Given the description of an element on the screen output the (x, y) to click on. 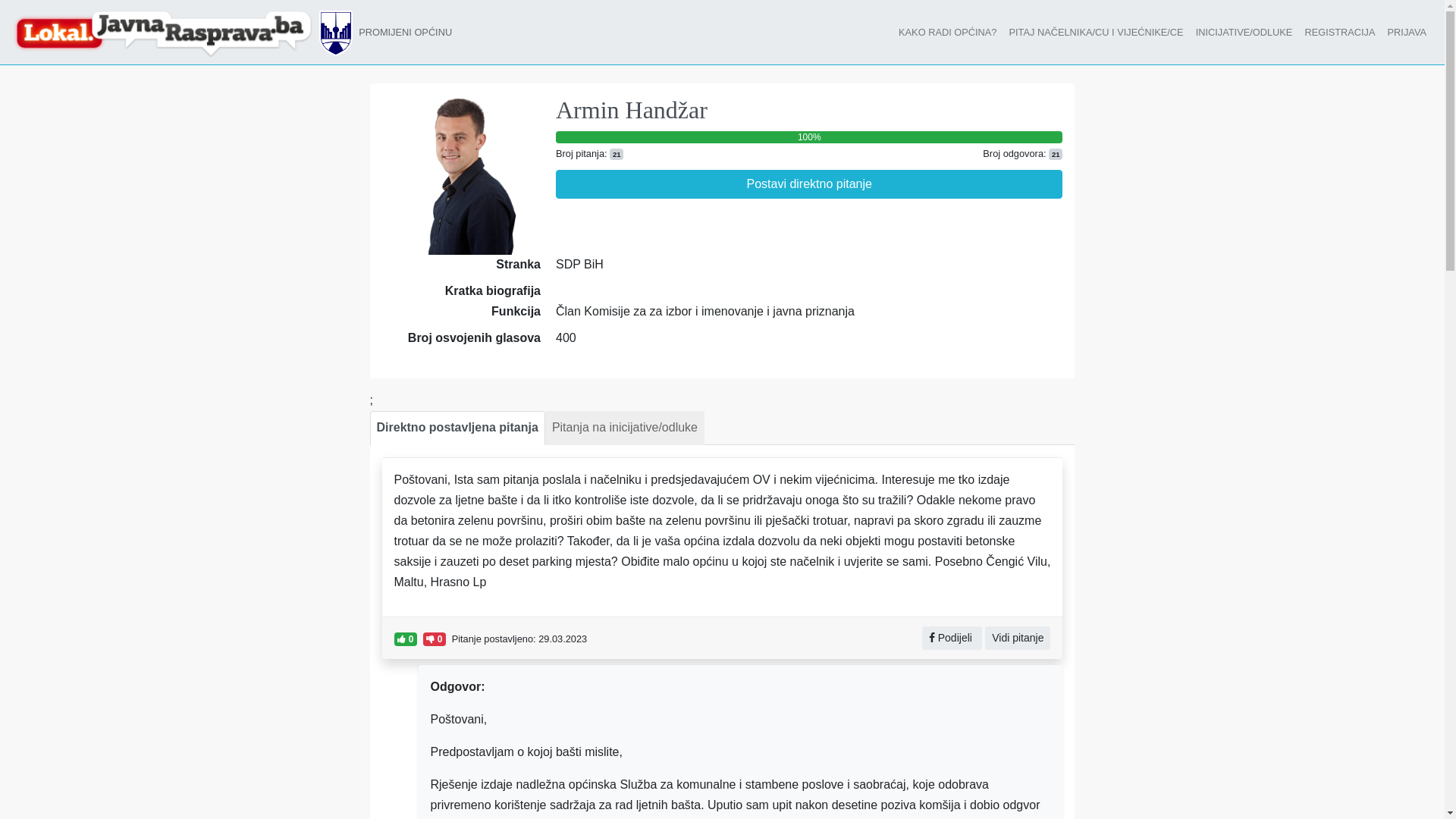
0 Element type: text (405, 639)
Vidi pitanje Element type: text (1017, 637)
INICIJATIVE/ODLUKE Element type: text (1244, 32)
REGISTRACIJA Element type: text (1339, 32)
 Podijeli Element type: text (952, 637)
0 Element type: text (434, 639)
Postavi direktno pitanje Element type: text (808, 183)
Pitanja na inicijative/odluke Element type: text (624, 428)
PRIJAVA Element type: text (1406, 32)
Direktno postavljena pitanja Element type: text (457, 428)
